Given the description of an element on the screen output the (x, y) to click on. 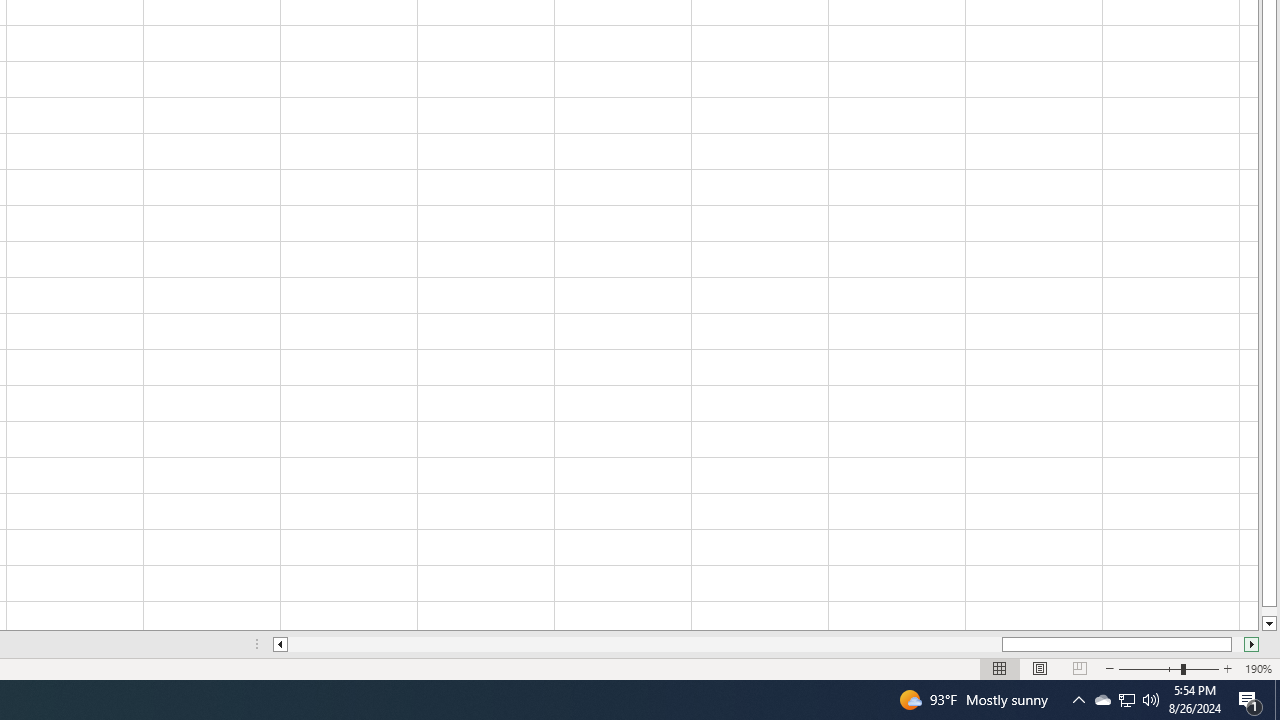
Page left (645, 644)
